Given the description of an element on the screen output the (x, y) to click on. 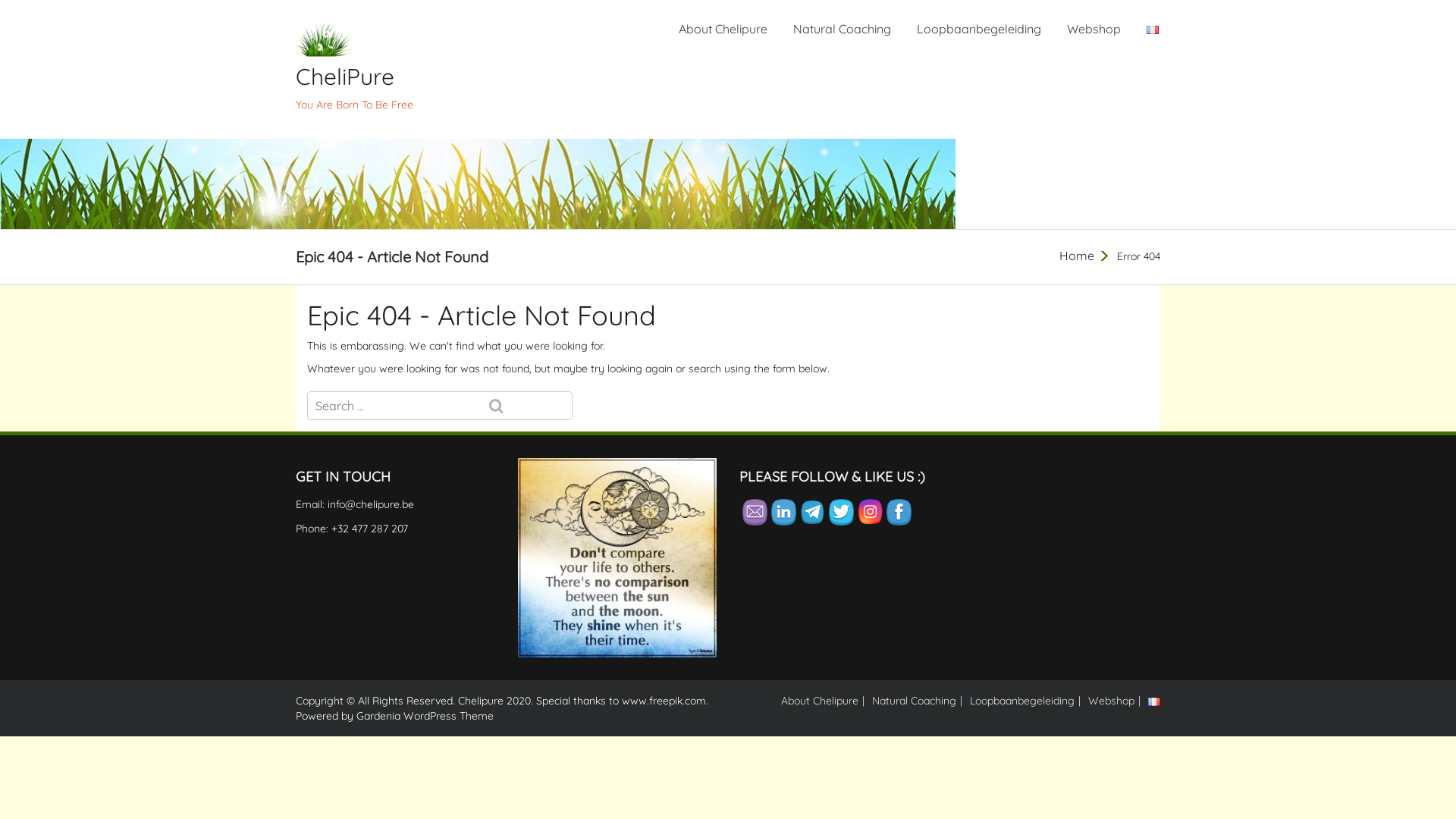
Facebook Element type: hover (898, 511)
Loopbaanbegeleiding Element type: text (1021, 700)
Natural Coaching Element type: text (841, 28)
Loopbaanbegeleiding Element type: text (978, 28)
Home Element type: text (1076, 255)
About Chelipure Element type: text (819, 700)
Follow by Email Element type: hover (754, 511)
Webshop Element type: text (1111, 700)
Webshop Element type: text (1093, 28)
Instagram Element type: hover (869, 511)
Gardenia WordPress Theme Element type: text (424, 715)
Search Element type: text (526, 406)
CheliPure Element type: text (395, 76)
Twitter Element type: hover (840, 511)
Natural Coaching Element type: text (914, 700)
About Chelipure Element type: text (722, 28)
